Given the description of an element on the screen output the (x, y) to click on. 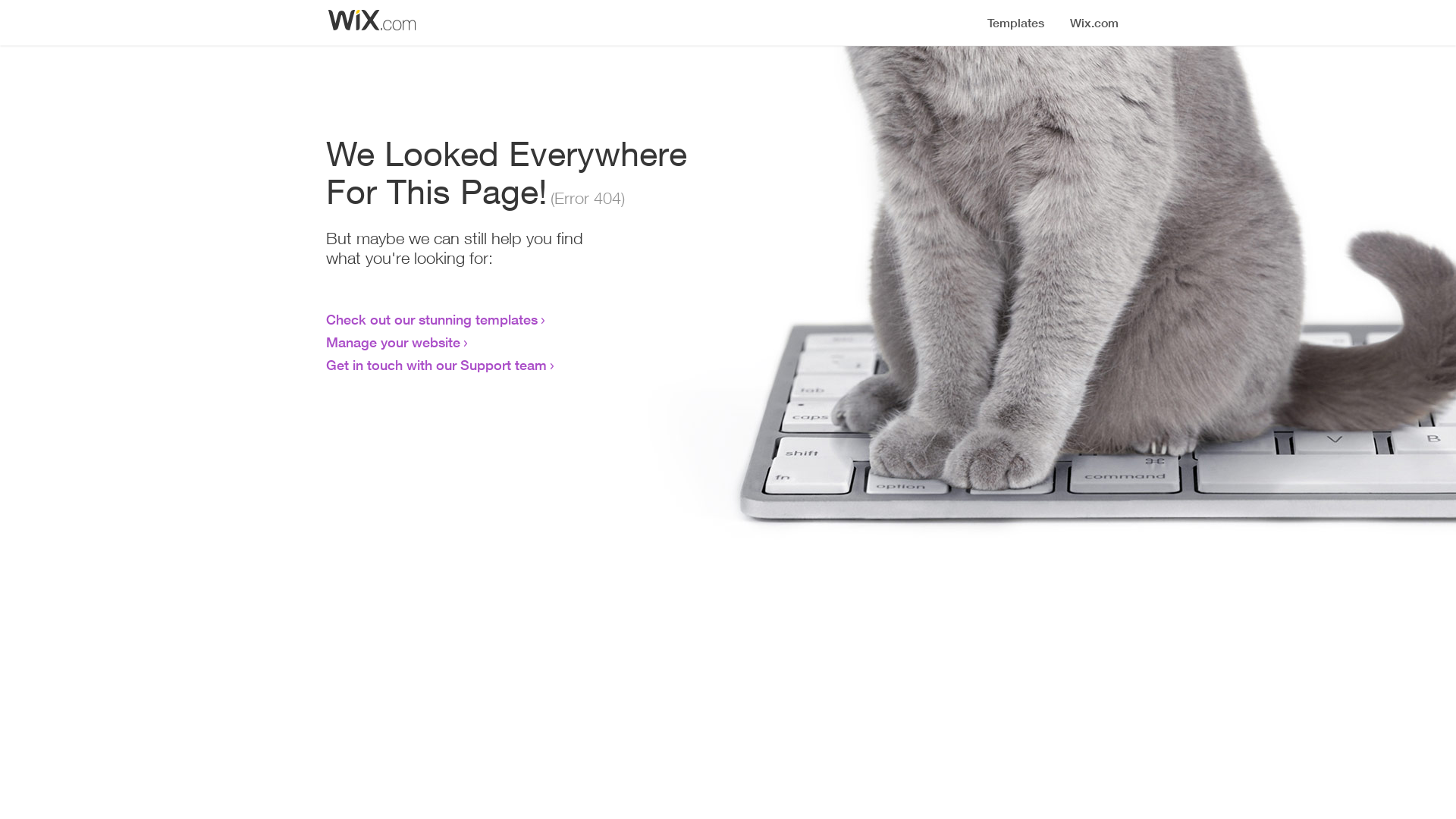
Get in touch with our Support team Element type: text (436, 364)
Manage your website Element type: text (393, 341)
Check out our stunning templates Element type: text (431, 318)
